Given the description of an element on the screen output the (x, y) to click on. 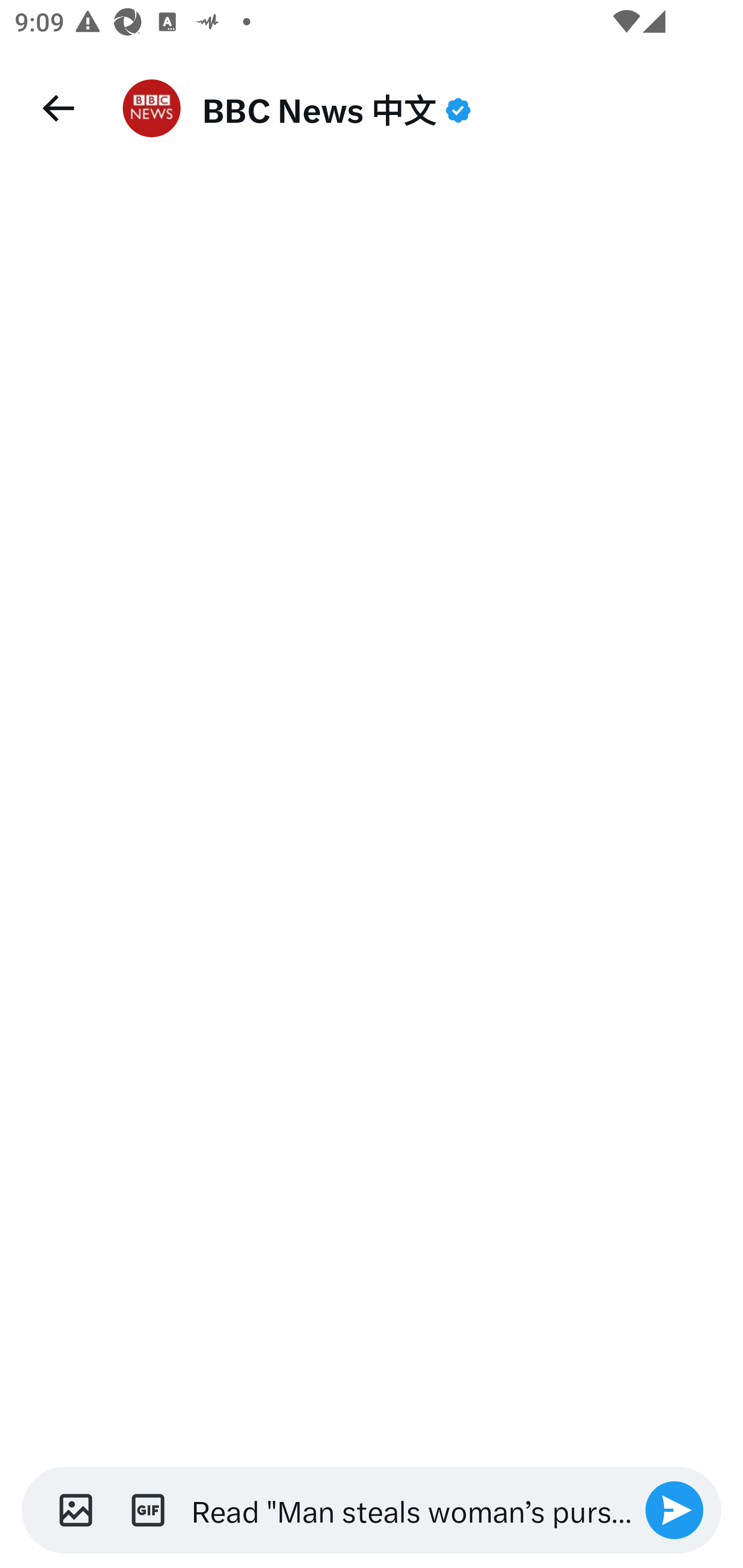
Navigate up (57, 108)
Profile image for BBC News 中文 (151, 108)
BBC News 中文 Verified (458, 108)
Photos (68, 1510)
GIF (147, 1510)
Send (673, 1510)
